Given the description of an element on the screen output the (x, y) to click on. 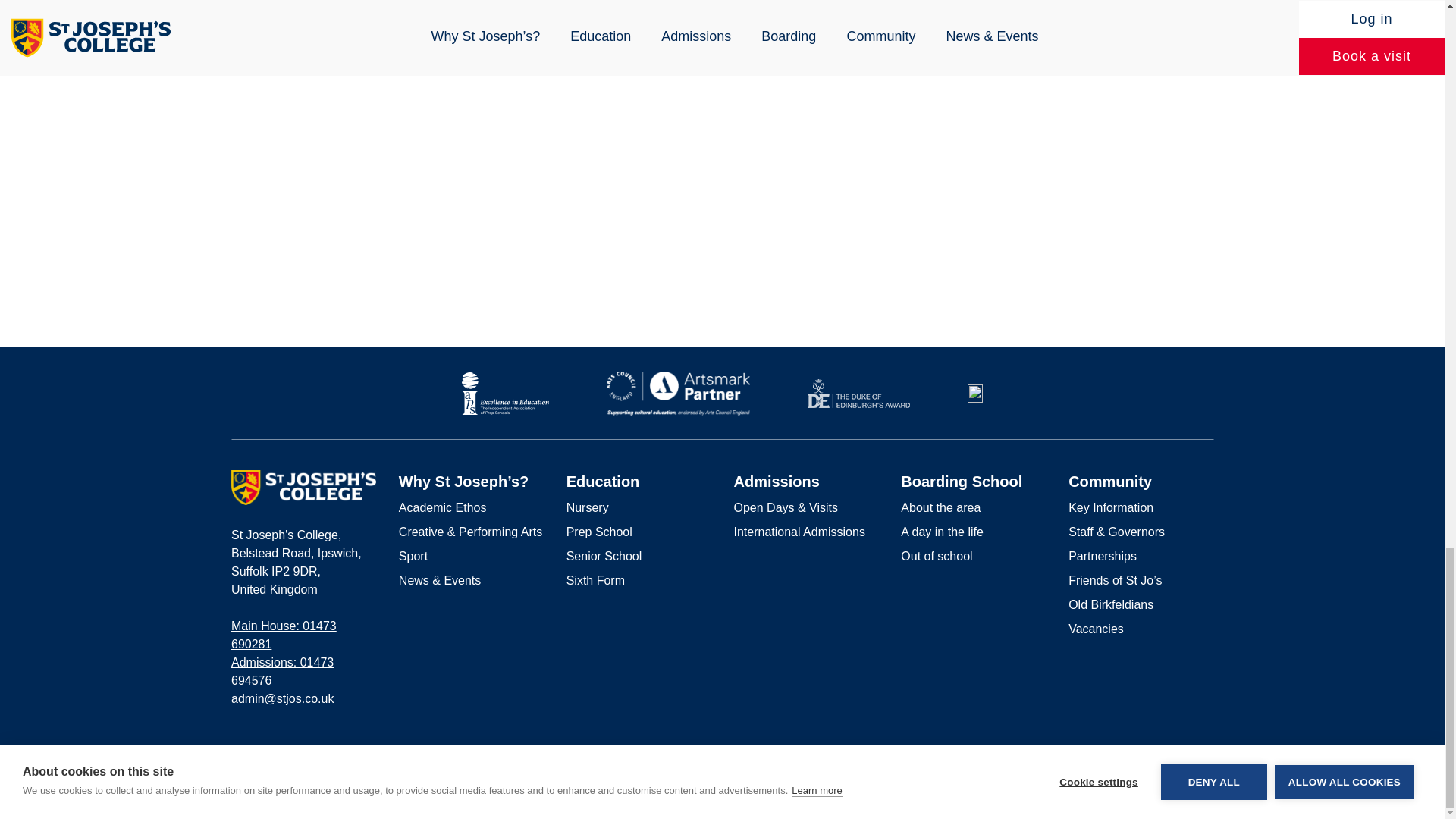
Facebook (1158, 758)
Twitter (1206, 759)
Instagram (1182, 758)
